Given the description of an element on the screen output the (x, y) to click on. 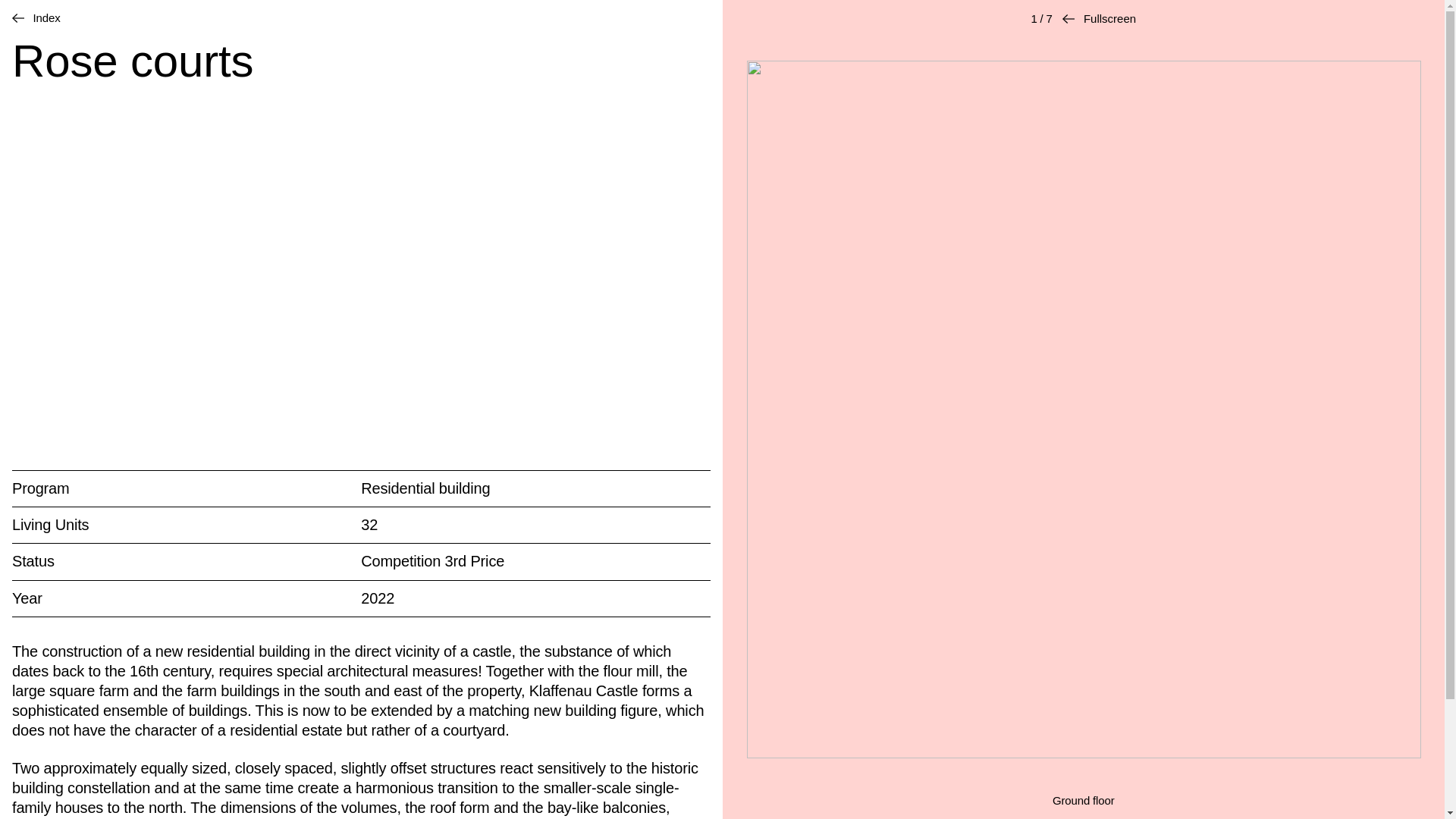
Fullscreen (1098, 18)
Index (36, 17)
Fullscreen (1098, 18)
